Given the description of an element on the screen output the (x, y) to click on. 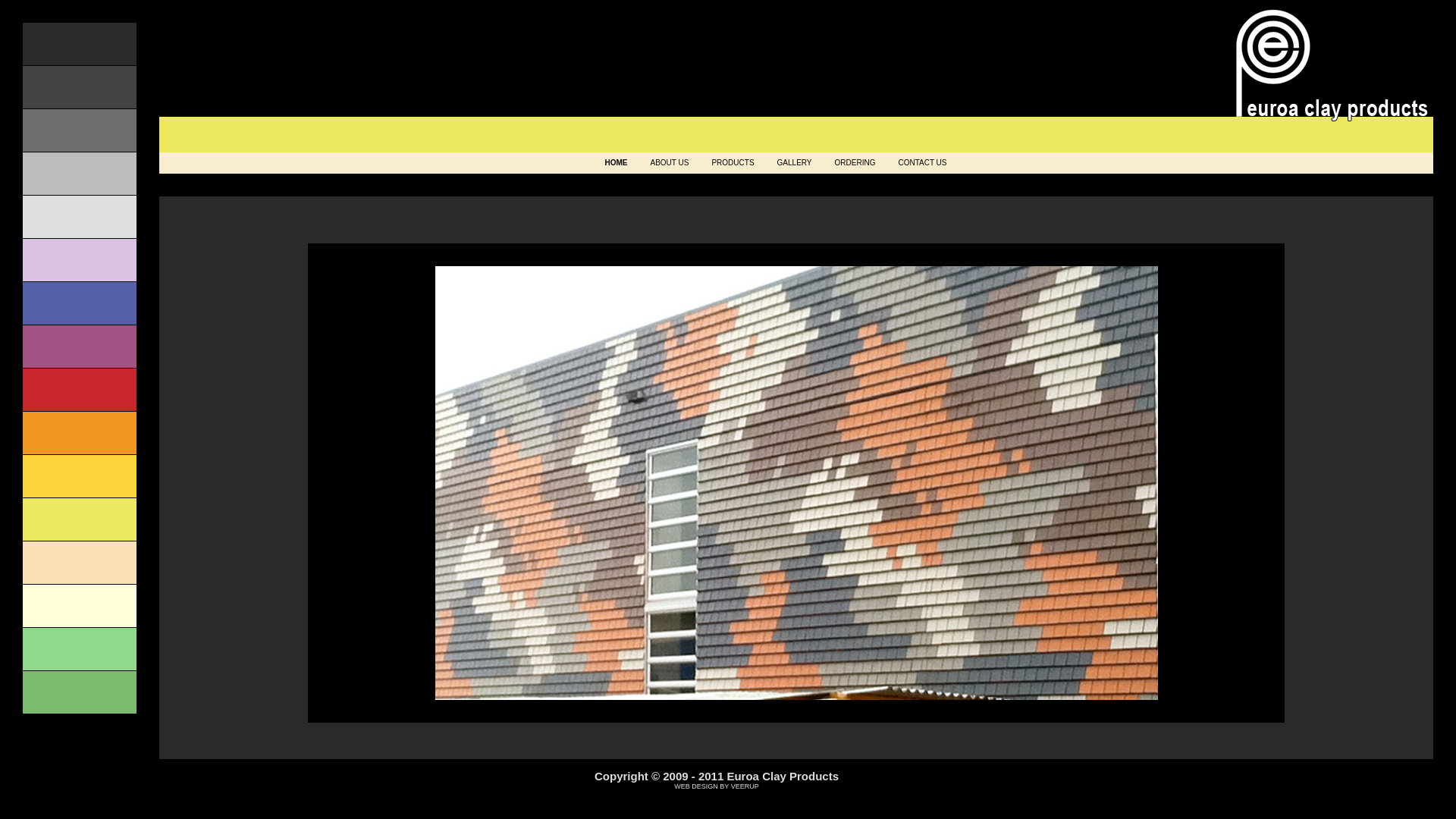
HOME Element type: text (616, 162)
CONTACT US Element type: text (921, 162)
ABOUT US Element type: text (669, 162)
GALLERY Element type: text (794, 162)
ORDERING Element type: text (855, 162)
WEB DESIGN BY VEERUP Element type: text (716, 786)
PRODUCTS Element type: text (732, 162)
